Given the description of an element on the screen output the (x, y) to click on. 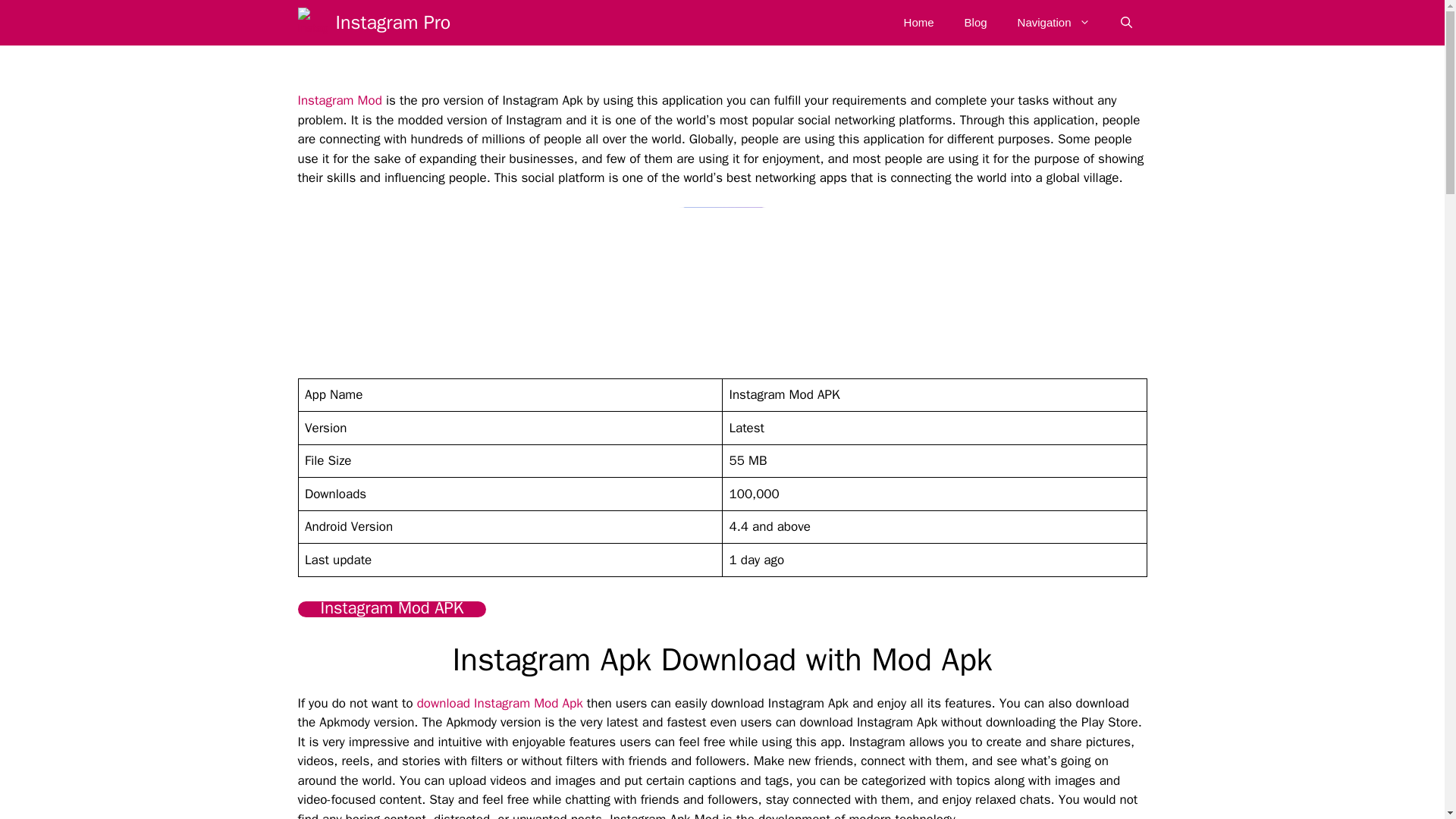
download Instagram Mod Apk (499, 703)
Blog (976, 22)
Instagram Mod APK (391, 609)
Navigation (1054, 22)
Instagram Mod (339, 100)
Instagram Pro (391, 22)
Home (918, 22)
